Given the description of an element on the screen output the (x, y) to click on. 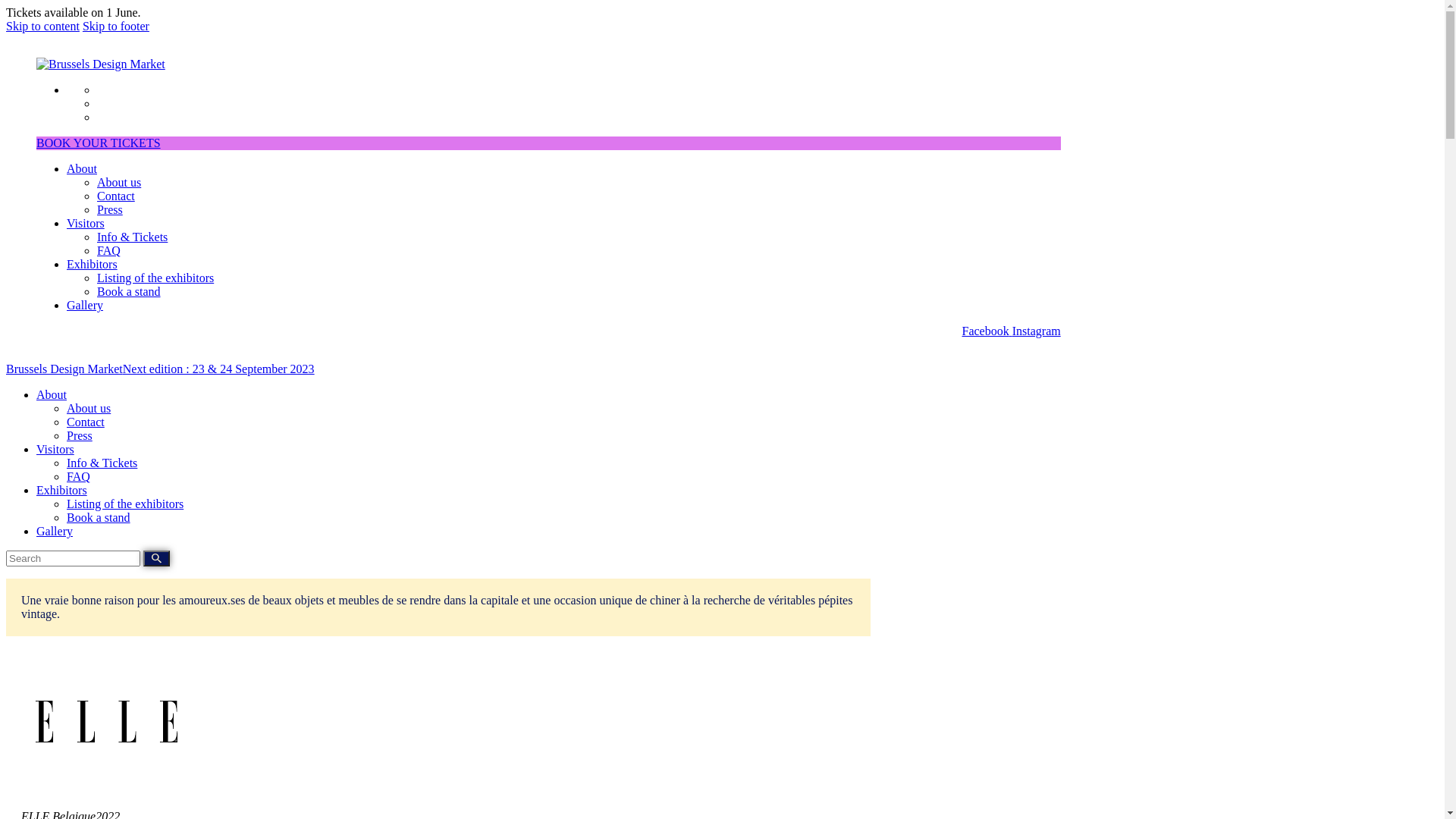
Listing of the exhibitors Element type: text (155, 277)
Visitors Element type: text (85, 222)
FAQ Element type: text (78, 476)
FAQ Element type: text (108, 250)
Info & Tickets Element type: text (101, 462)
About Element type: text (81, 168)
Skip to footer Element type: text (115, 25)
Press Element type: text (79, 435)
Exhibitors Element type: text (91, 263)
Contact Element type: text (85, 421)
Visitors Element type: text (55, 448)
About us Element type: text (88, 407)
Facebook Element type: text (986, 330)
Press Element type: text (109, 209)
About Element type: text (51, 394)
Book a stand Element type: text (128, 291)
BOOK YOUR TICKETS Element type: text (98, 142)
Brussels Design MarketNext edition : 23 & 24 September 2023 Element type: text (160, 368)
Book a stand Element type: text (98, 517)
Gallery Element type: text (84, 304)
Exhibitors Element type: text (61, 489)
Contact Element type: text (115, 195)
Gallery Element type: text (54, 530)
Instagram Element type: text (1036, 330)
Info & Tickets Element type: text (132, 236)
About us Element type: text (119, 181)
Listing of the exhibitors Element type: text (124, 503)
Skip to content Element type: text (42, 25)
